Given the description of an element on the screen output the (x, y) to click on. 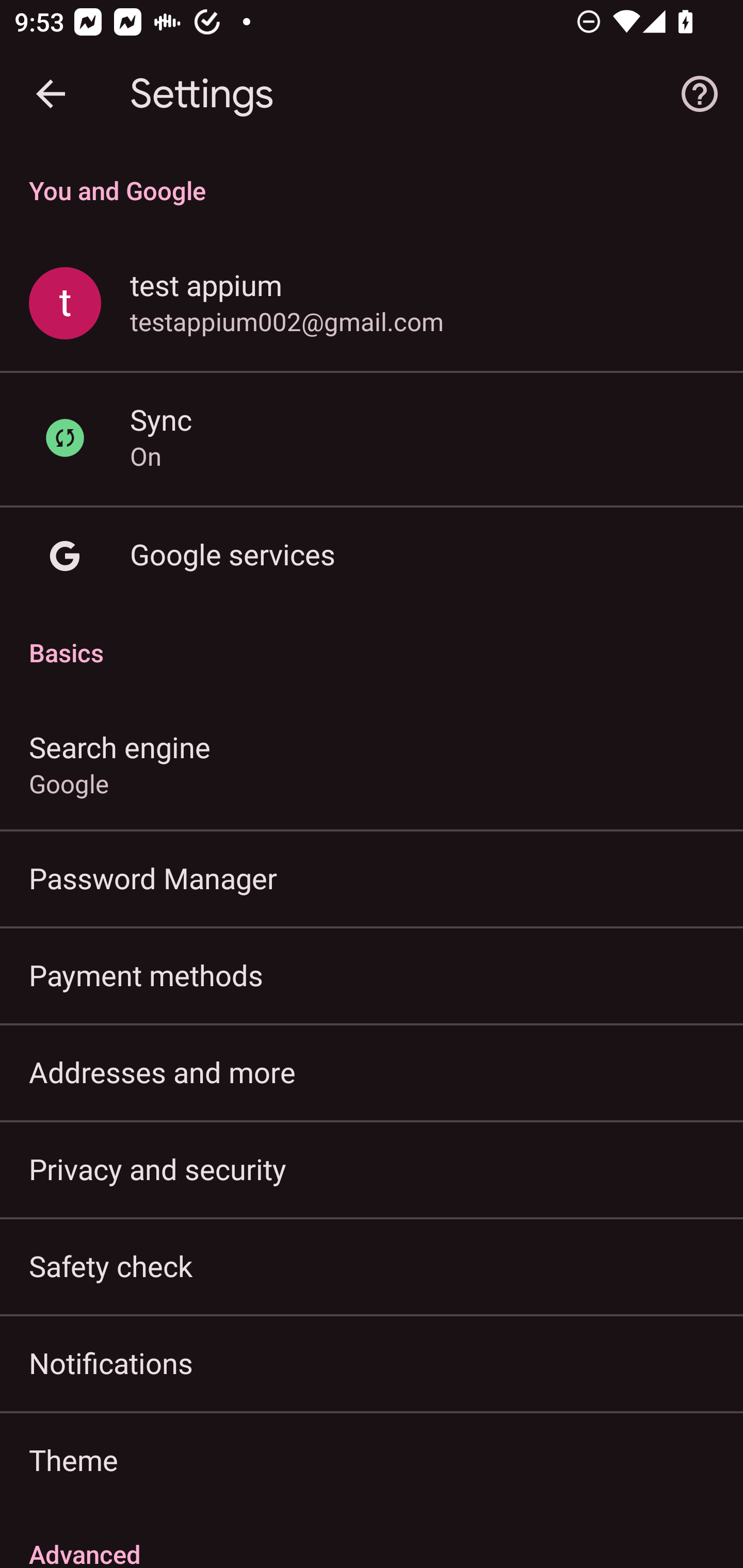
Navigate up (50, 93)
Help & feedback (699, 93)
test appium testappium002@gmail.com (371, 303)
Sync On (371, 437)
Google services (371, 555)
Search engine Google (371, 763)
Password Manager (371, 877)
Payment methods (371, 974)
Addresses and more (371, 1071)
Privacy and security (371, 1167)
Safety check (371, 1264)
Notifications (371, 1362)
Theme (371, 1459)
